Given the description of an element on the screen output the (x, y) to click on. 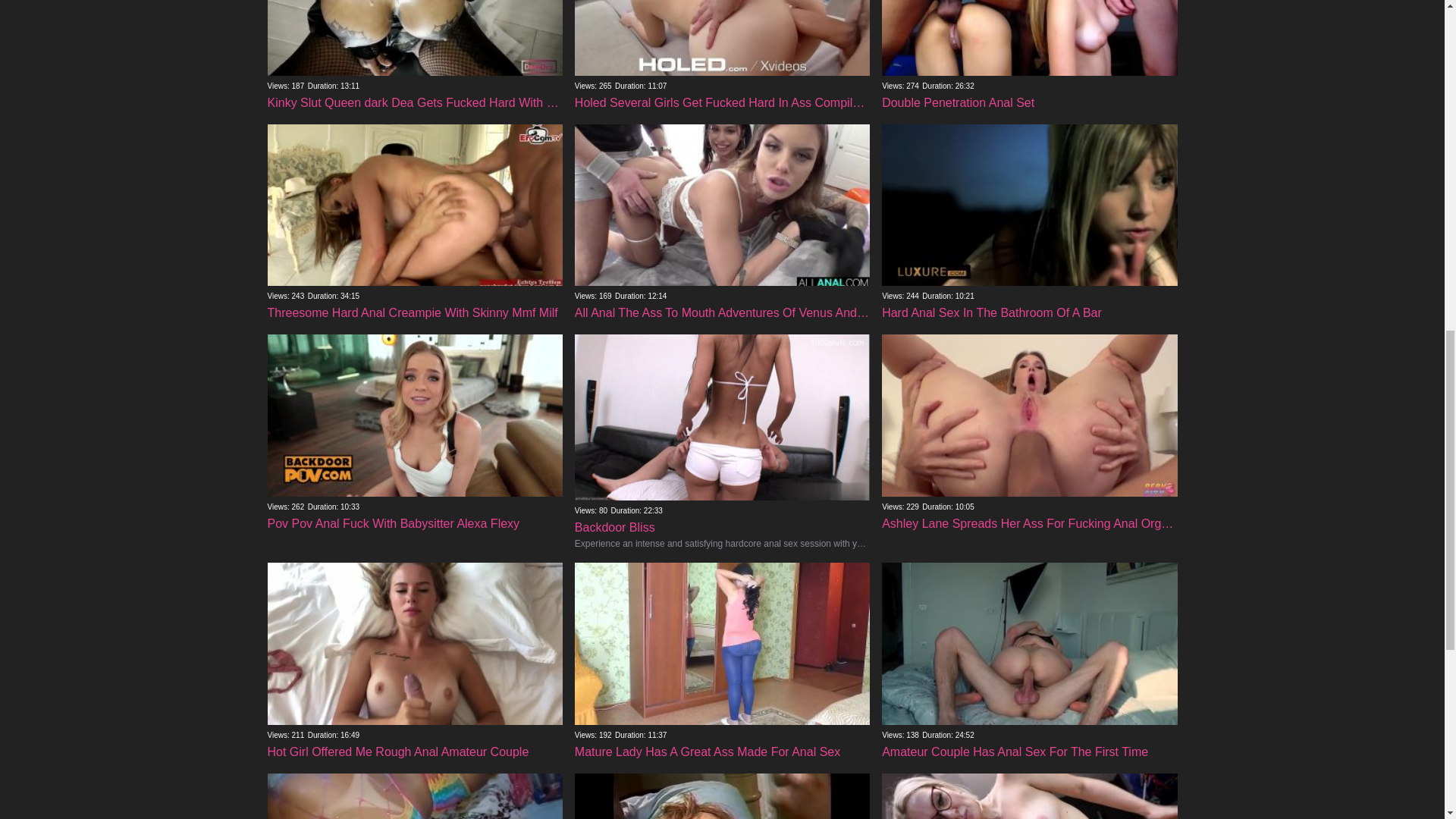
Ashley Lane Spreads Her Ass For Fucking Anal Orgasm (1029, 470)
Threesome Hard Anal Creampie With Skinny Mmf Milf (414, 260)
All Anal The Ass To Mouth Adventures Of Venus And Jesse (722, 260)
Pov  Pov Anal Fuck With Babysitter Alexa Flexy (414, 470)
Double Penetration Anal Set (1029, 56)
Hard Anal Sex In The Bathroom Of A Bar (1029, 260)
